Given the description of an element on the screen output the (x, y) to click on. 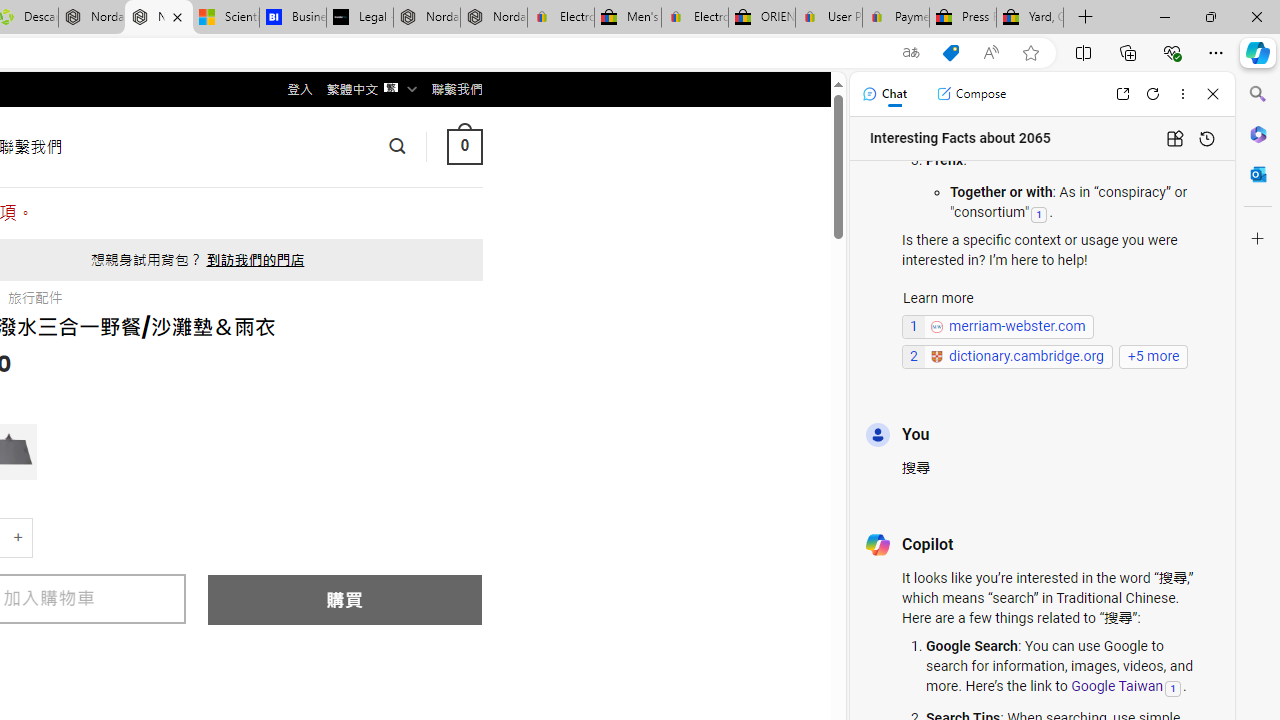
Chat (884, 93)
  0   (464, 146)
Compose (971, 93)
Press Room - eBay Inc. (962, 17)
User Privacy Notice | eBay (828, 17)
